Given the description of an element on the screen output the (x, y) to click on. 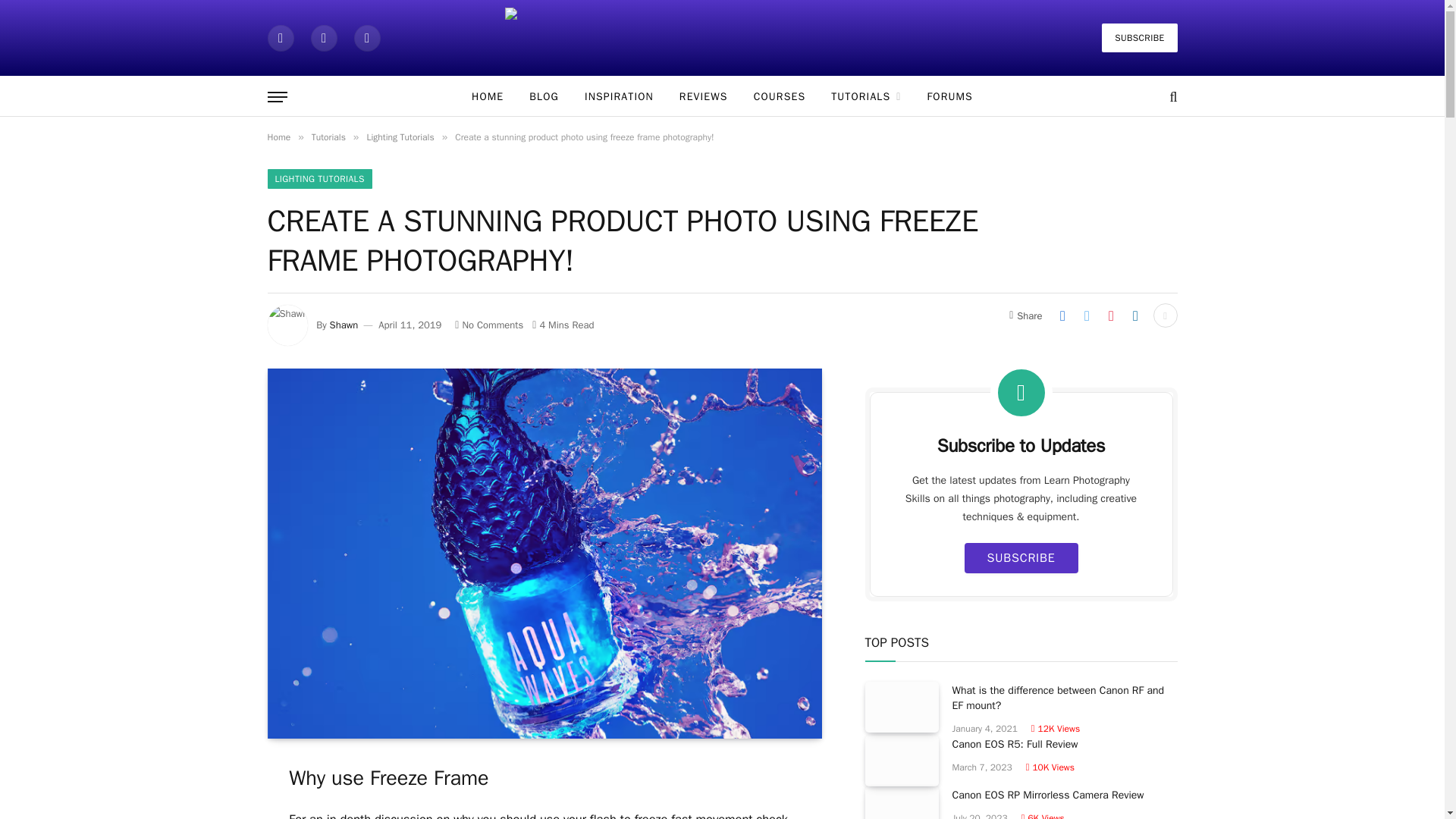
COURSES (779, 96)
REVIEWS (703, 96)
Twitter (324, 37)
Facebook (280, 37)
INSPIRATION (619, 96)
Learn Photography Skills (722, 38)
SUBSCRIBE (1139, 37)
HOME (487, 96)
BLOG (544, 96)
Instagram (366, 37)
TUTORIALS (866, 96)
